Given the description of an element on the screen output the (x, y) to click on. 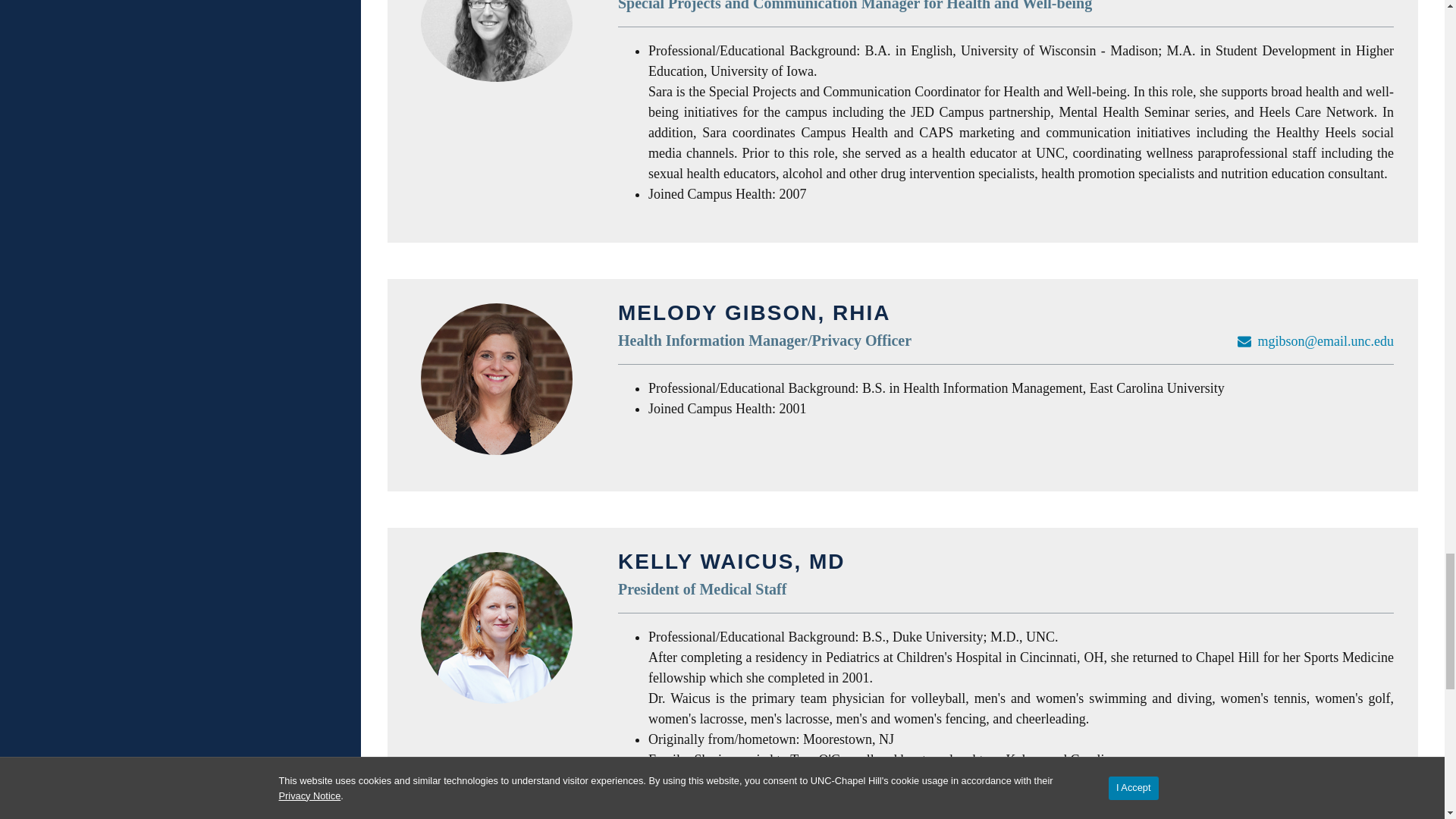
Email (1243, 341)
